Given the description of an element on the screen output the (x, y) to click on. 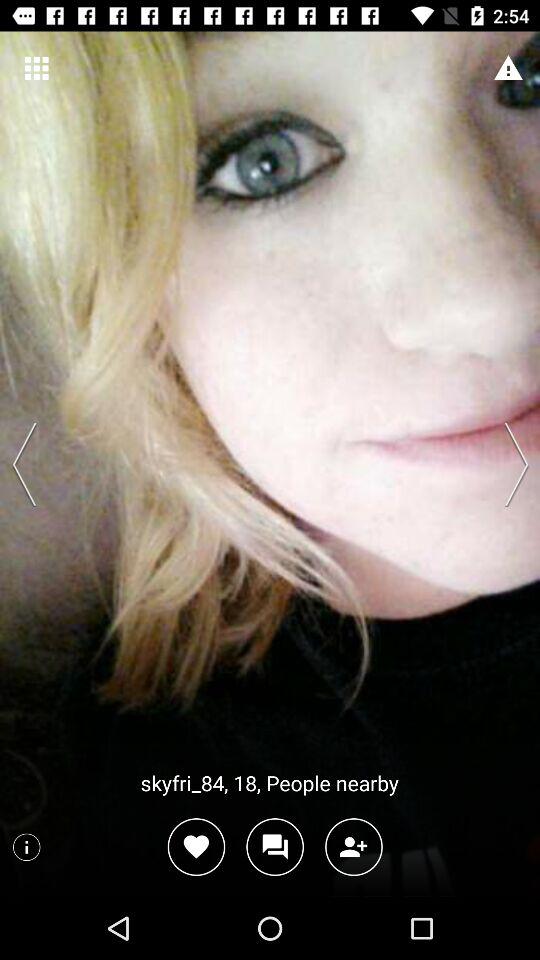
choose icon below skyfri_84 18 people (274, 846)
